Given the description of an element on the screen output the (x, y) to click on. 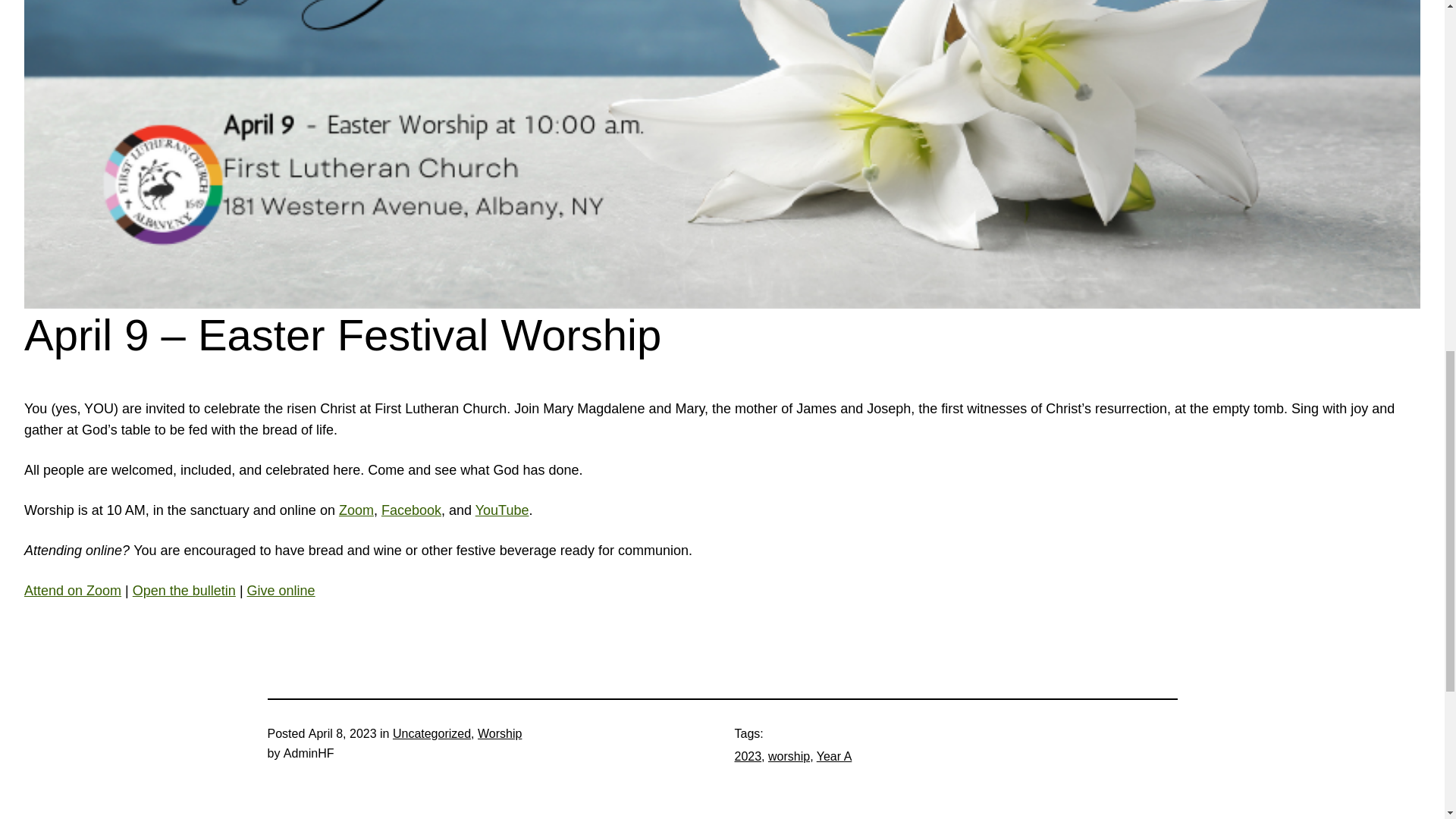
YouTube (502, 509)
worship (788, 756)
Give online (281, 590)
2023 (747, 756)
Open the bulletin (183, 590)
Attend on Zoom (72, 590)
Year A (833, 756)
Zoom (356, 509)
Facebook (411, 509)
Worship (499, 733)
